Given the description of an element on the screen output the (x, y) to click on. 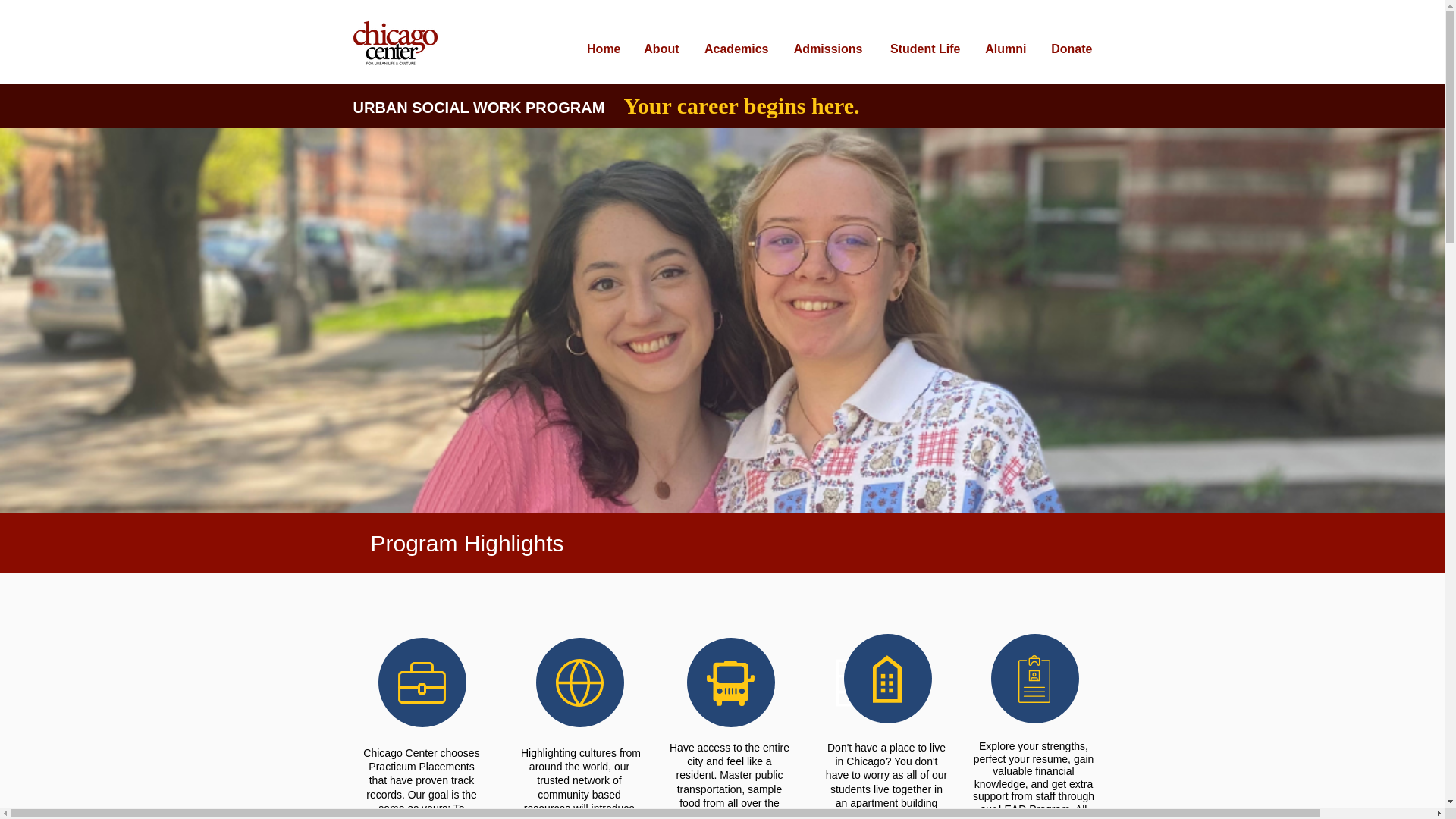
Student Life (920, 42)
Academics (732, 42)
Admissions (824, 42)
